Given the description of an element on the screen output the (x, y) to click on. 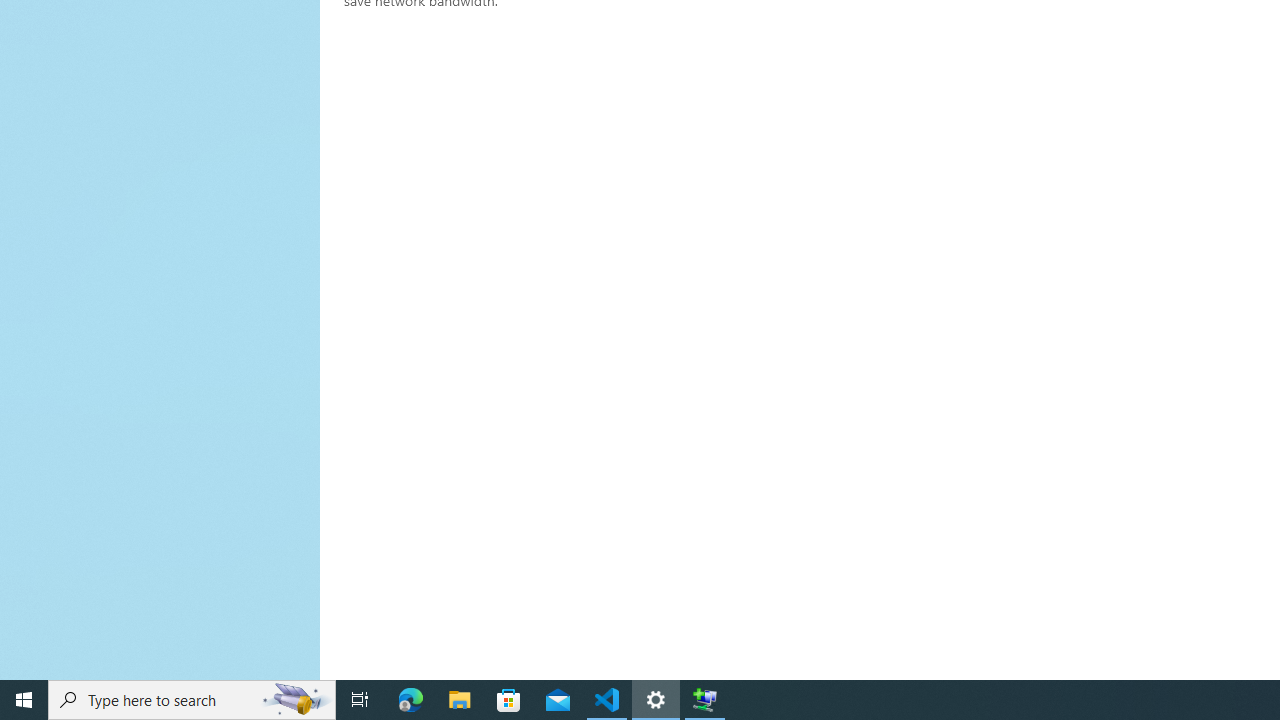
Extensible Wizards Host Process - 1 running window (704, 699)
